Given the description of an element on the screen output the (x, y) to click on. 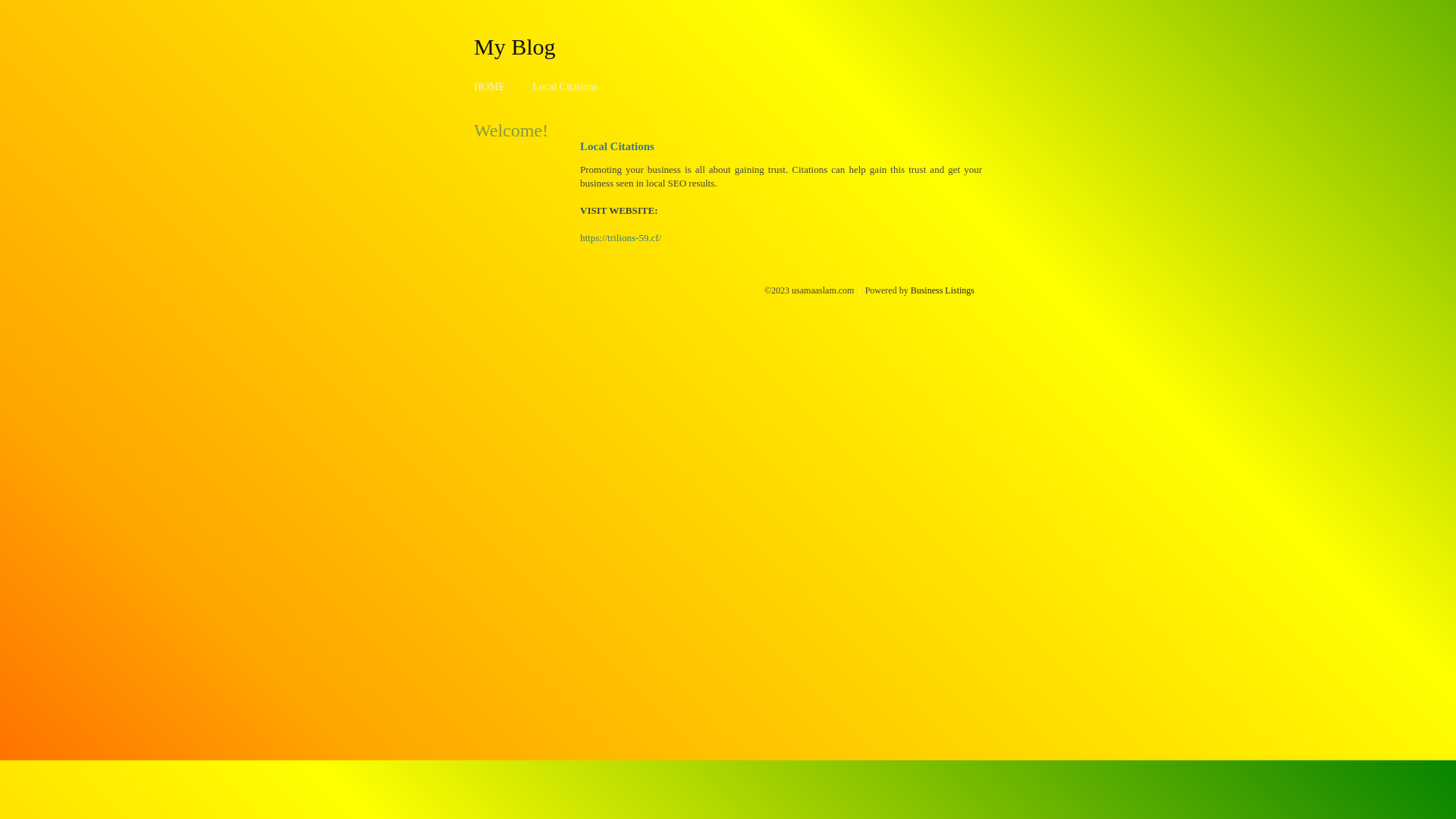
HOME Element type: text (489, 86)
My Blog Element type: text (514, 46)
Business Listings Element type: text (942, 290)
https://trilions-59.cf/ Element type: text (620, 237)
Local Citations Element type: text (564, 86)
